Given the description of an element on the screen output the (x, y) to click on. 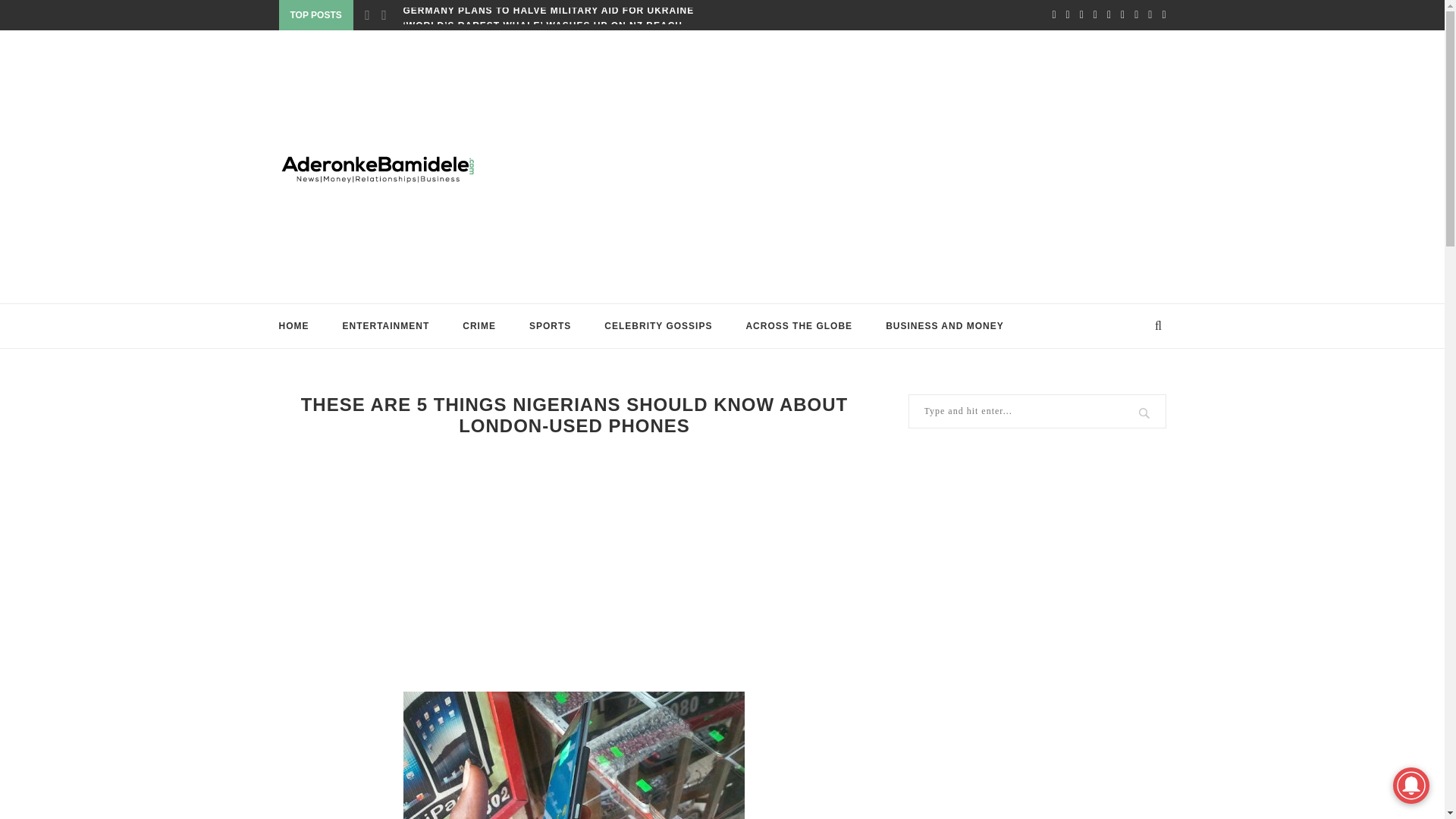
Advertisement (574, 562)
Advertisement (874, 166)
GERMANY PLANS TO HALVE MILITARY AID FOR UKRAINE (548, 10)
